Given the description of an element on the screen output the (x, y) to click on. 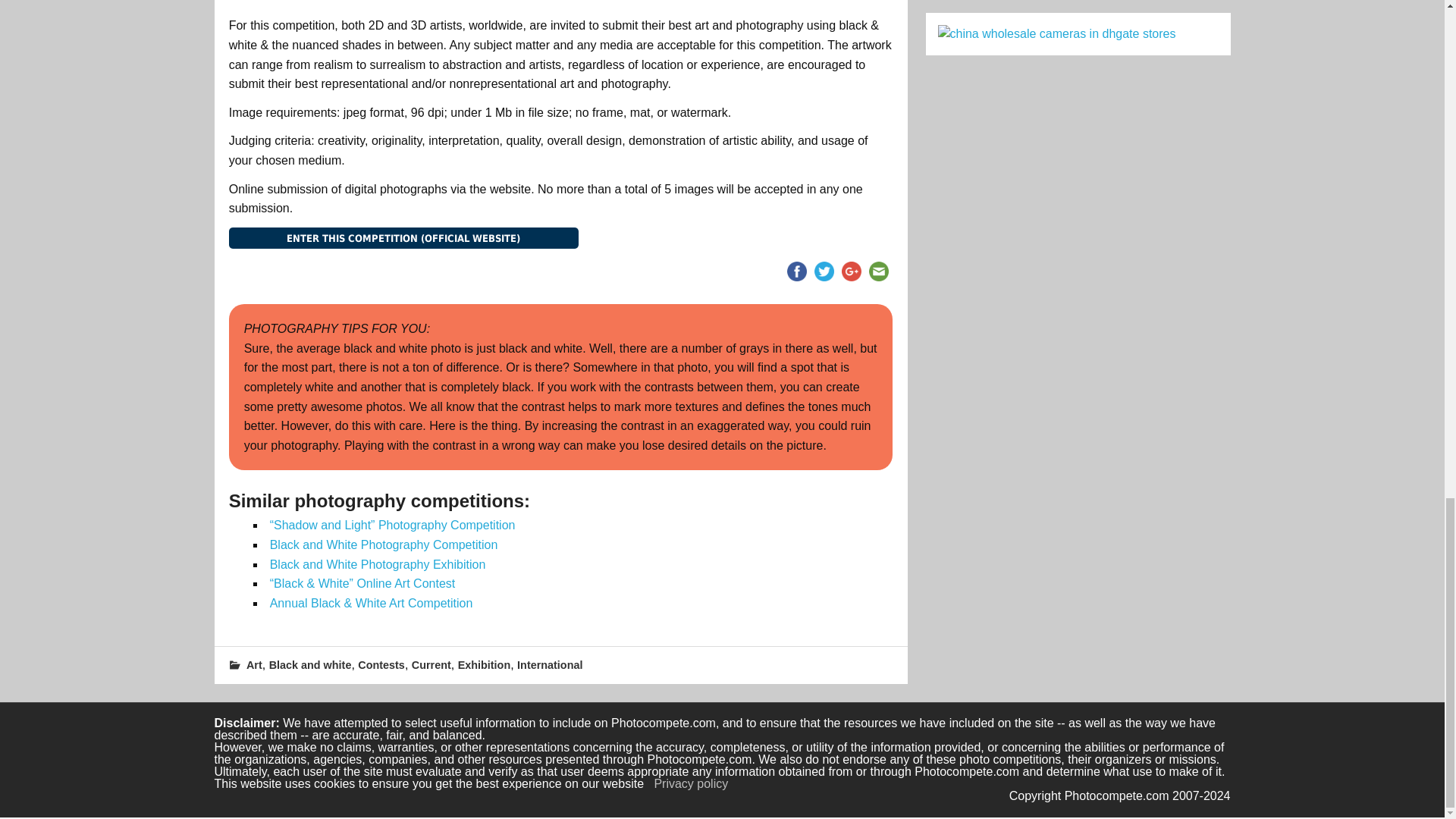
Black and white (310, 664)
OFFICIAL WEBSITE (403, 237)
Contests (381, 664)
International (549, 664)
Twitter (824, 271)
Current (431, 664)
Black and White Photography Competition (383, 544)
Exhibition (484, 664)
Black and White Photography Exhibition (377, 563)
Email (878, 271)
Art (254, 664)
Facebook (796, 271)
